Given the description of an element on the screen output the (x, y) to click on. 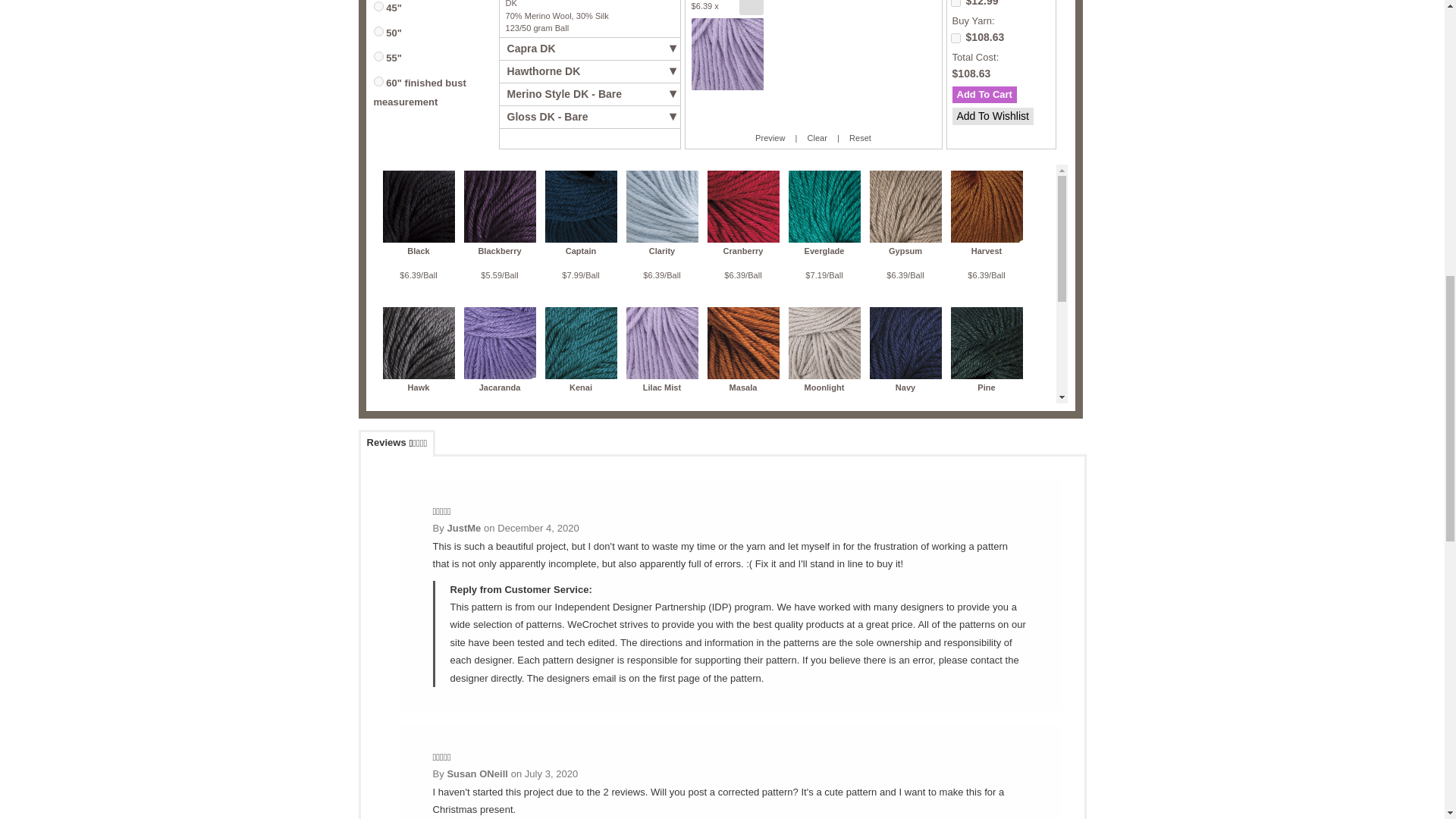
3 (377, 31)
5 (377, 81)
4 (377, 56)
2 (377, 6)
on (955, 3)
on (955, 38)
